Given the description of an element on the screen output the (x, y) to click on. 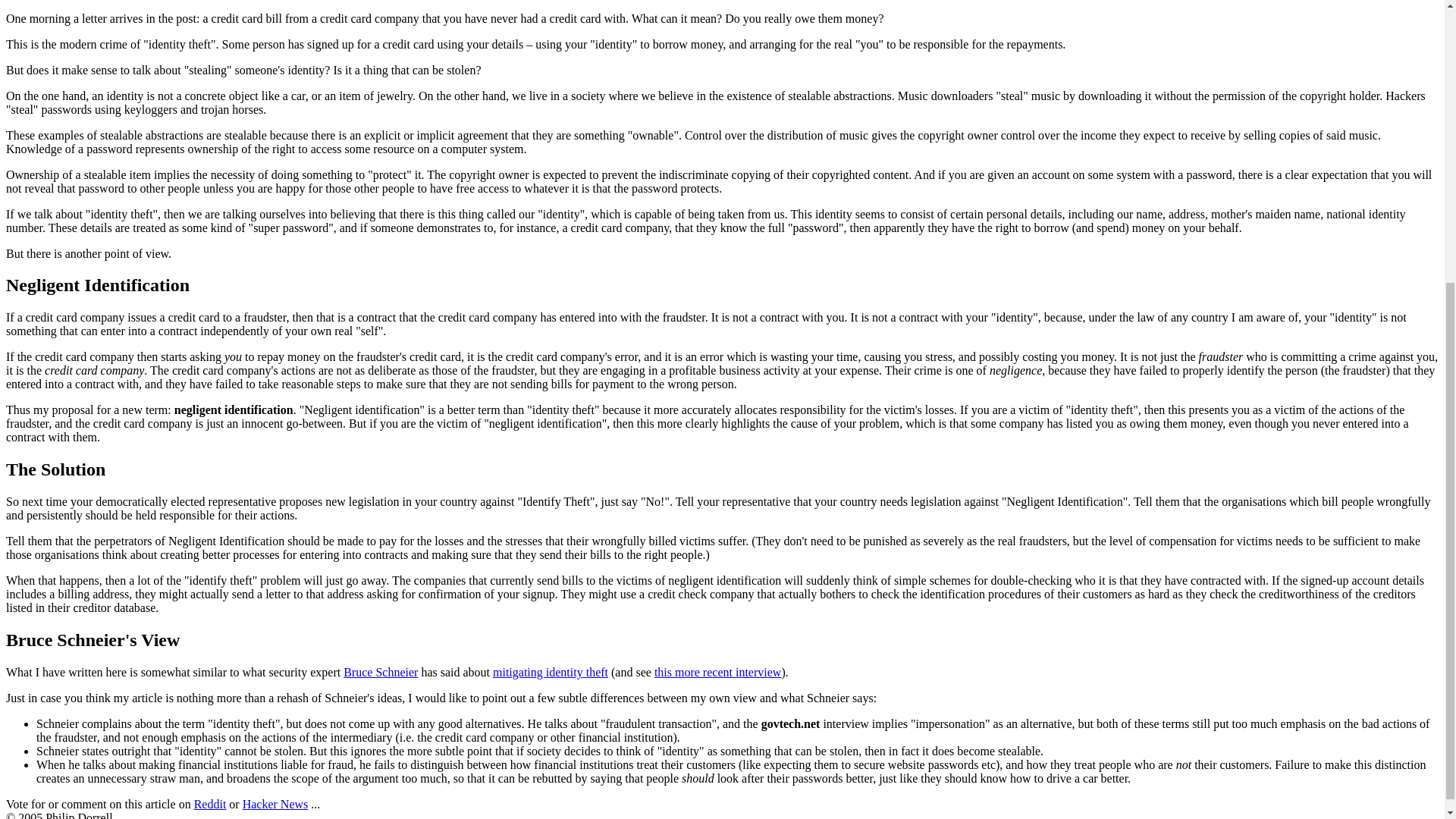
Reddit (210, 803)
mitigating identity theft (550, 671)
Bruce Schneier (380, 671)
this more recent interview (717, 671)
Hacker News (275, 803)
